Given the description of an element on the screen output the (x, y) to click on. 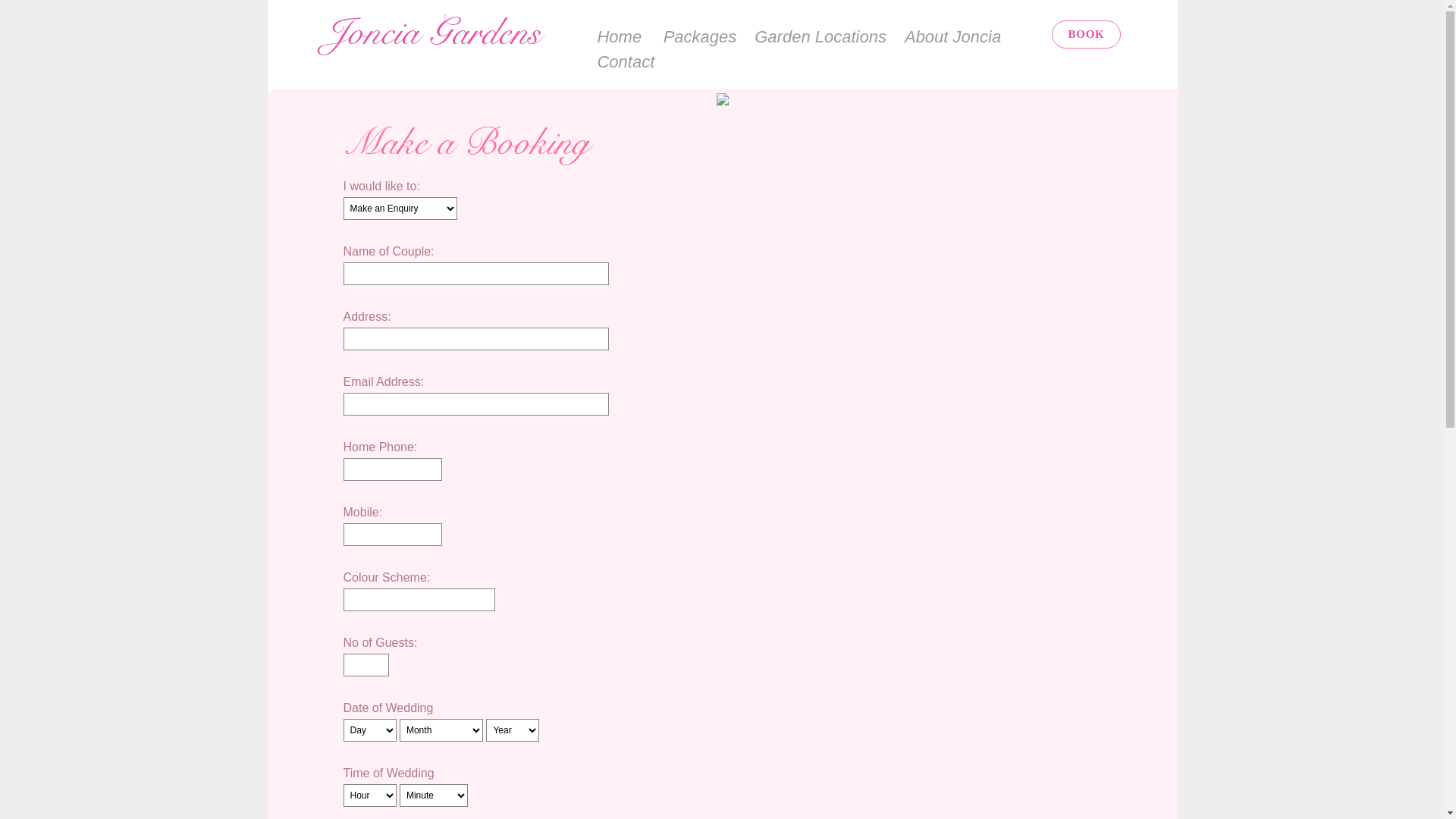
Joncia Gardens Element type: text (449, 37)
Home Element type: text (618, 36)
About Joncia Element type: text (952, 36)
Garden Locations Element type: text (820, 36)
Packages Element type: text (700, 36)
BOOK Element type: text (1085, 34)
Contact Element type: text (625, 61)
